Given the description of an element on the screen output the (x, y) to click on. 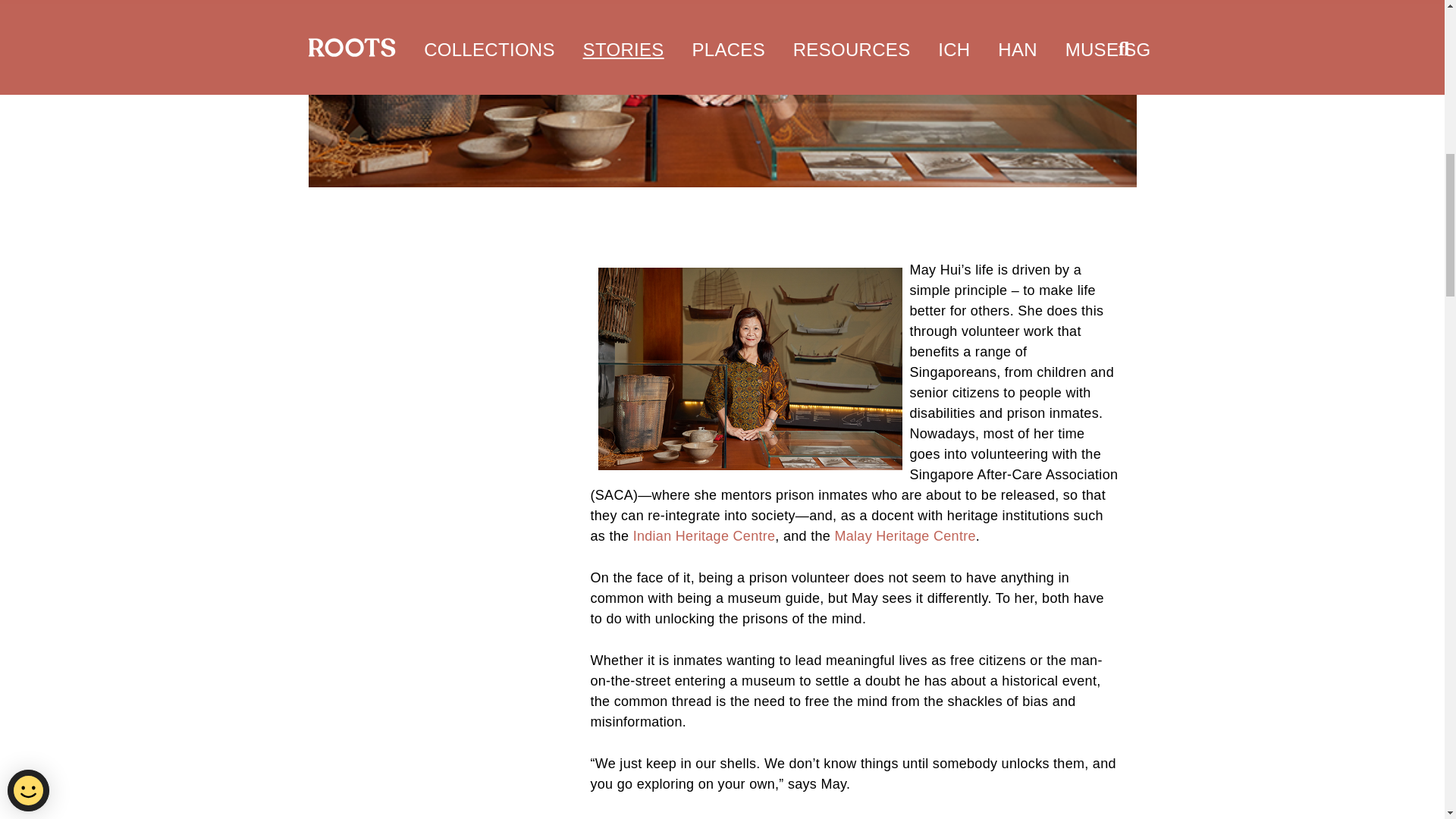
Indian Heritage Centre (704, 535)
Malay Heritage Centre (904, 535)
